Given the description of an element on the screen output the (x, y) to click on. 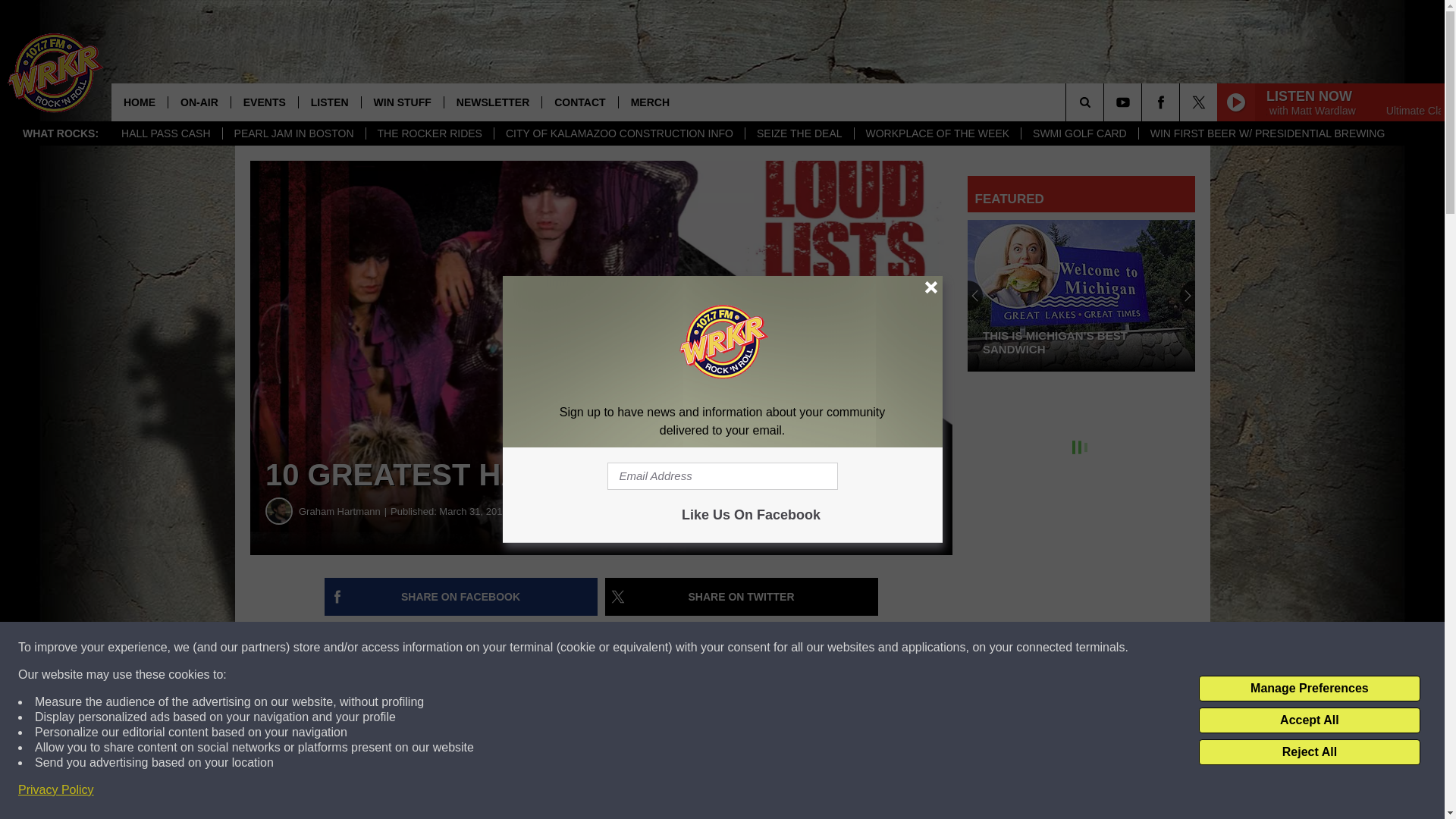
Share on Twitter (741, 596)
Share on Facebook (460, 596)
EVENTS (264, 102)
NEWSLETTER (492, 102)
PEARL JAM IN BOSTON (293, 133)
SEIZE THE DEAL (798, 133)
CITY OF KALAMAZOO CONSTRUCTION INFO (618, 133)
Reject All (1309, 751)
WIN STUFF (402, 102)
SEARCH (1106, 102)
THE ROCKER RIDES (429, 133)
WHAT ROCKS: (60, 133)
HOME (139, 102)
ON-AIR (198, 102)
Email Address (722, 475)
